Given the description of an element on the screen output the (x, y) to click on. 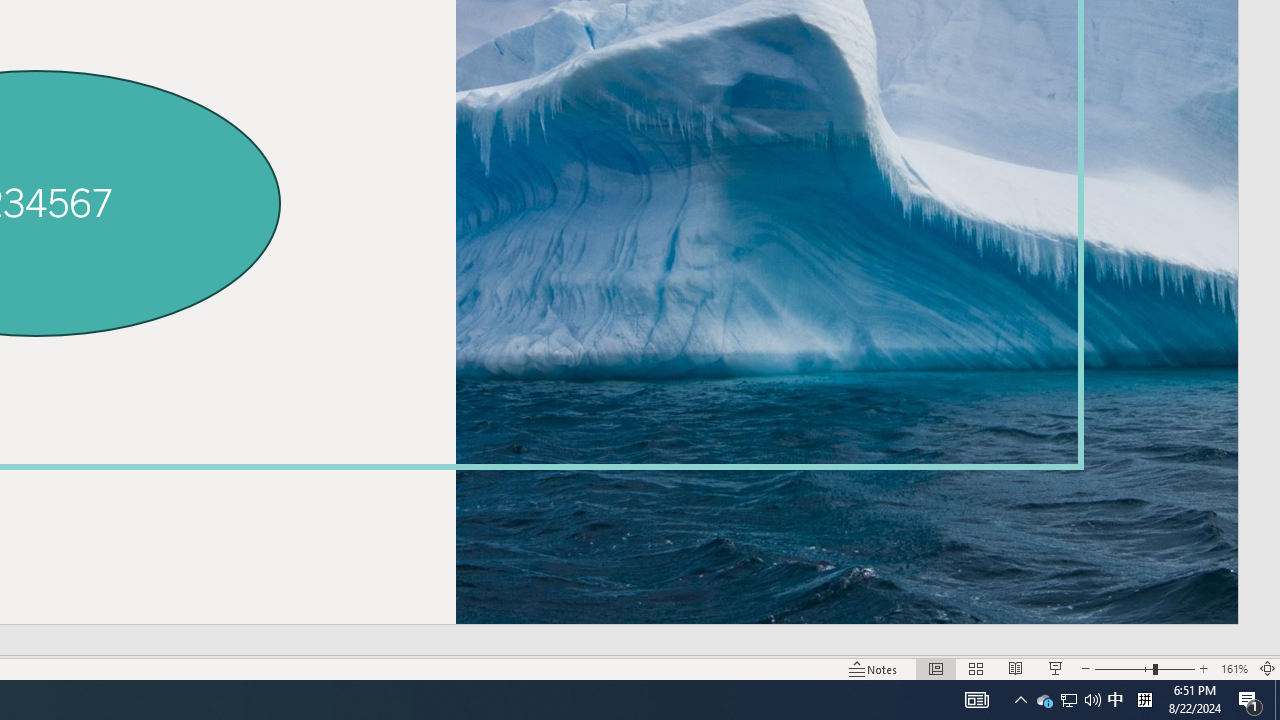
Zoom 161% (1234, 668)
